Given the description of an element on the screen output the (x, y) to click on. 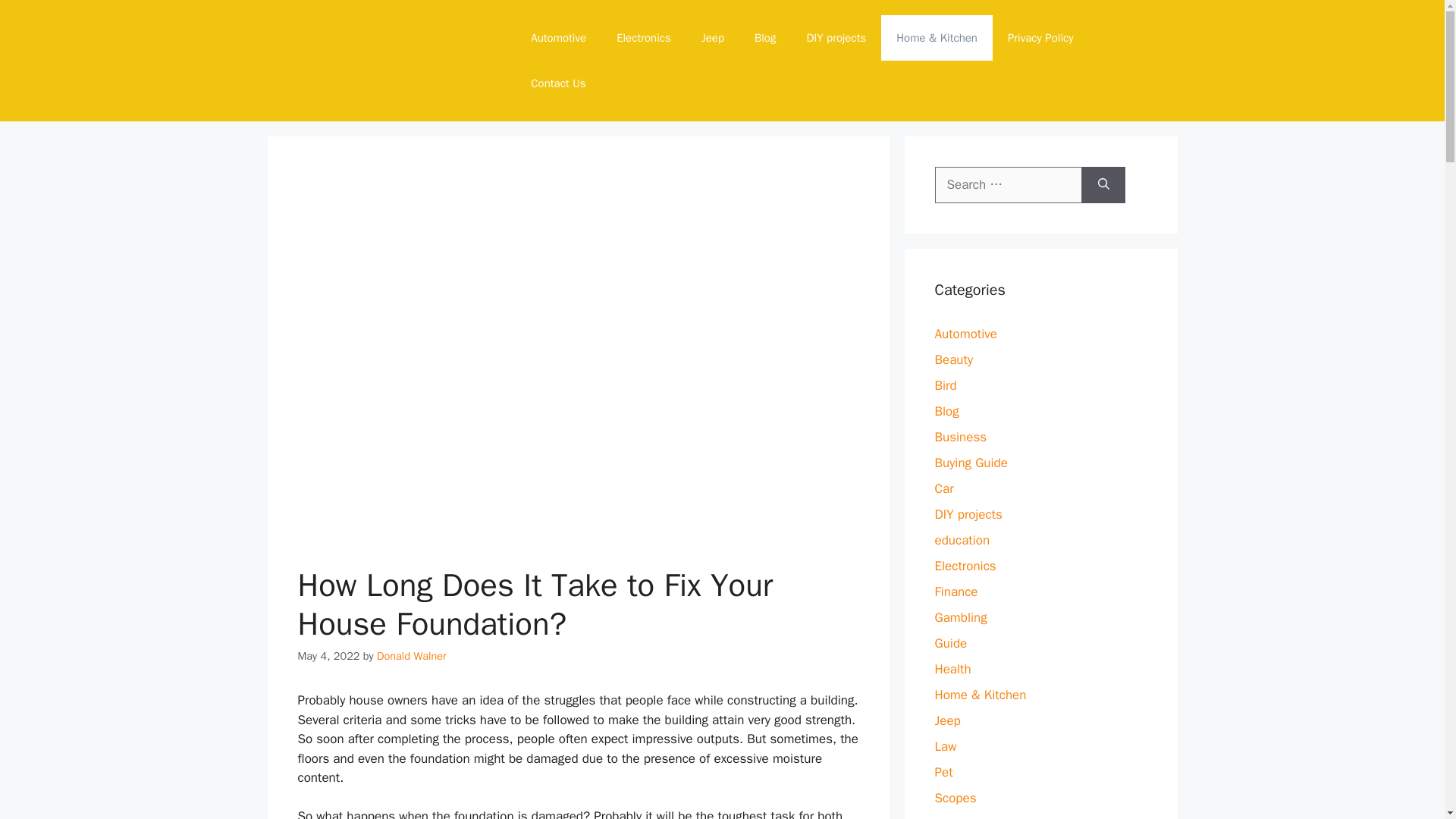
Donald Walner (411, 655)
Privacy Policy (1040, 37)
Search for: (1007, 185)
Automotive (558, 37)
Jeep (712, 37)
Contact Us (557, 83)
Electronics (643, 37)
View all posts by Donald Walner (411, 655)
Blog (764, 37)
Automotive (965, 333)
DIY projects (835, 37)
